Given the description of an element on the screen output the (x, y) to click on. 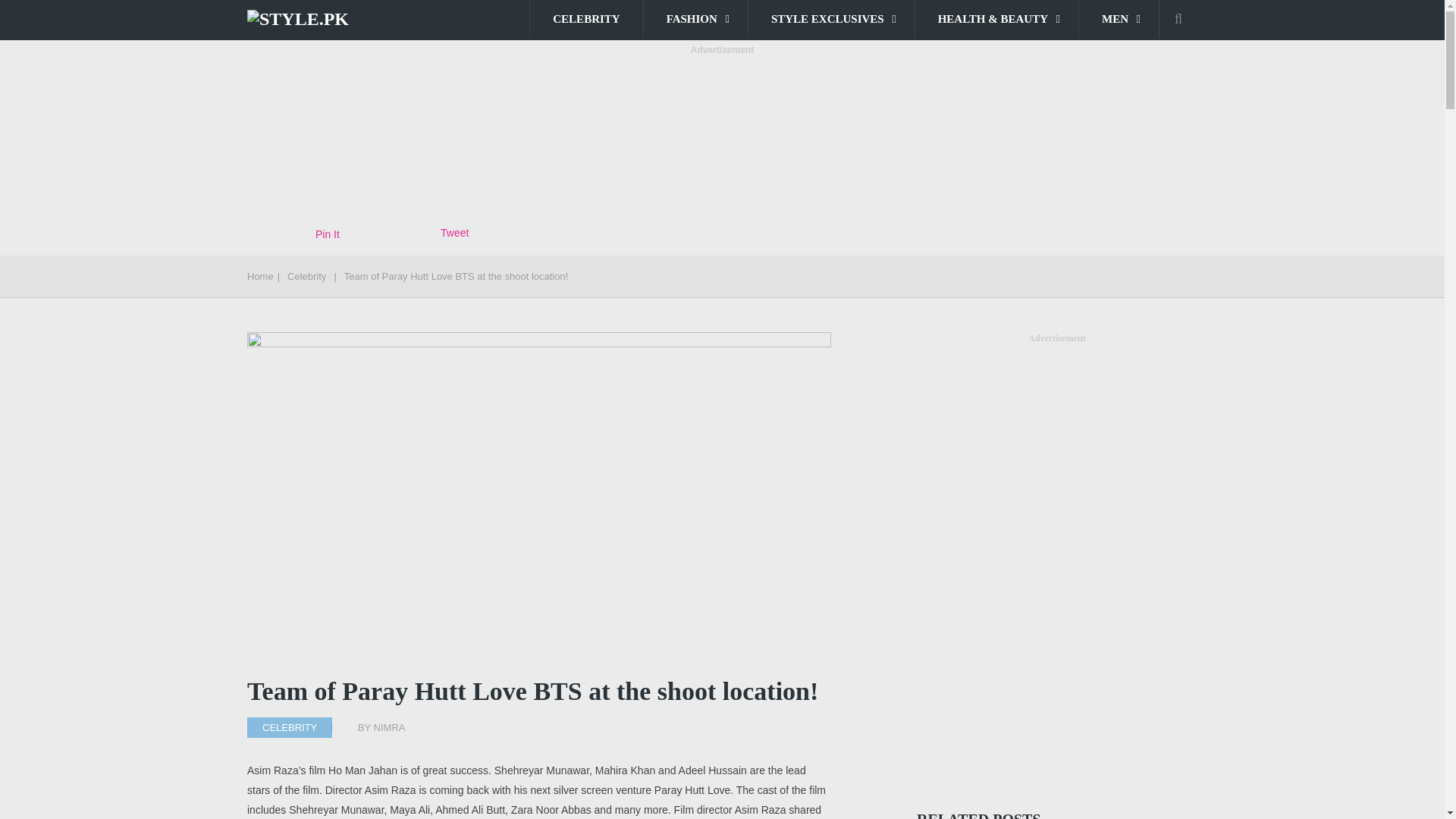
MEN (1118, 18)
FASHION (695, 18)
STYLE EXCLUSIVES (831, 18)
CELEBRITY (585, 18)
